Given the description of an element on the screen output the (x, y) to click on. 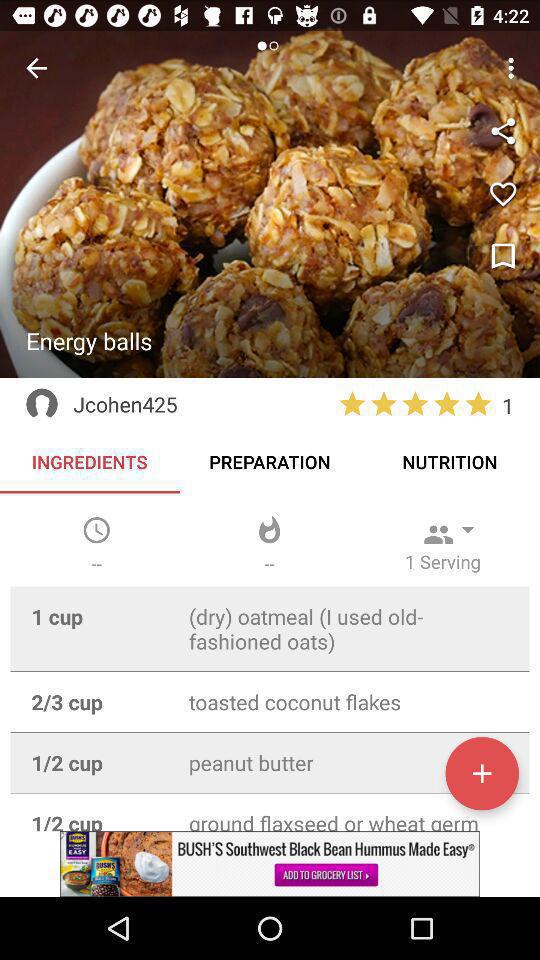
like button (503, 194)
